Given the description of an element on the screen output the (x, y) to click on. 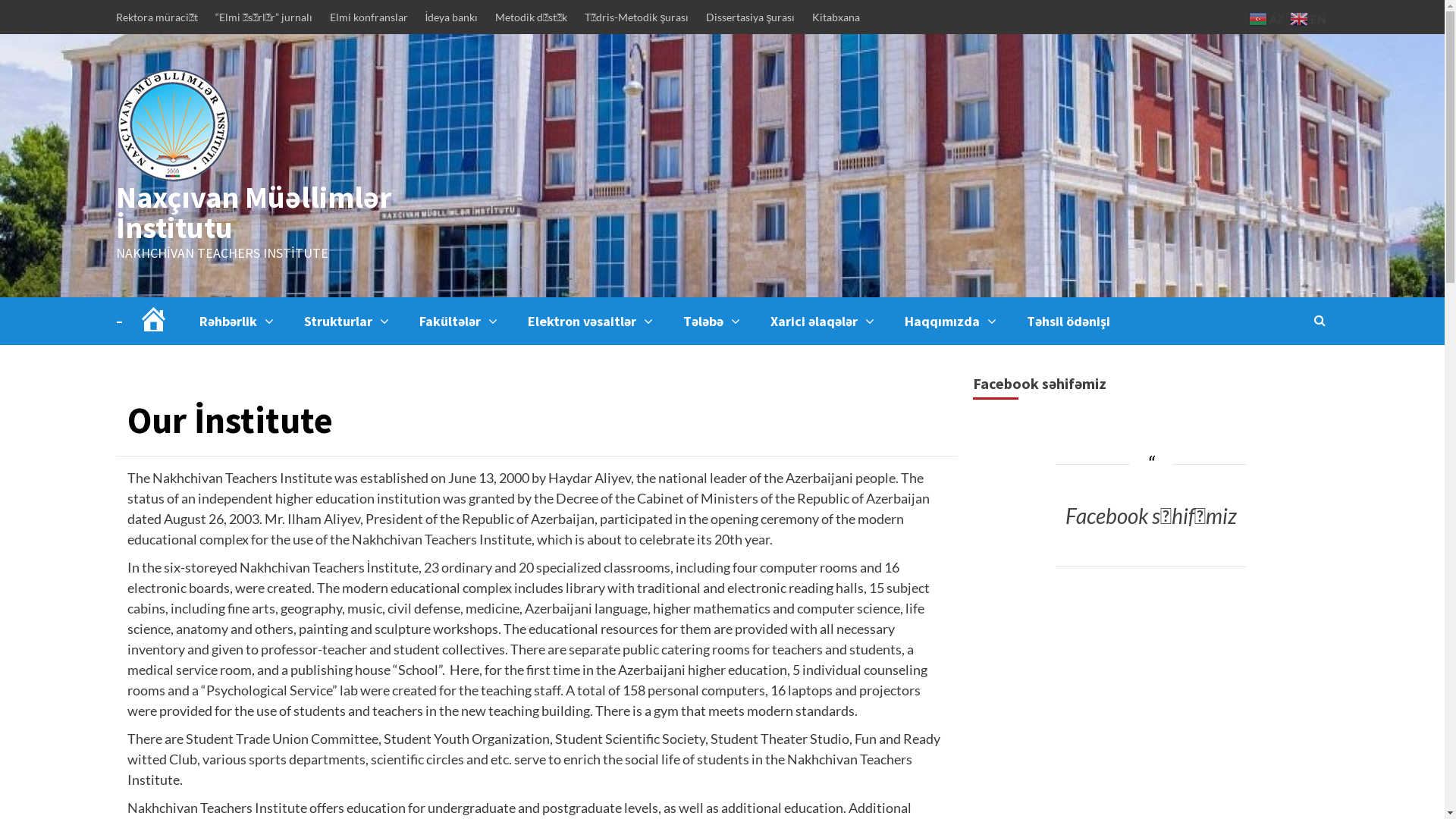
Strukturlar Element type: text (361, 321)
EN Element type: text (1309, 17)
Our institute Element type: text (160, 389)
Ara Element type: text (1283, 368)
Elmi konfranslar Element type: text (367, 17)
Search Element type: hover (1319, 319)
Kitabxana Element type: text (835, 17)
AZ Element type: text (1267, 17)
